Given the description of an element on the screen output the (x, y) to click on. 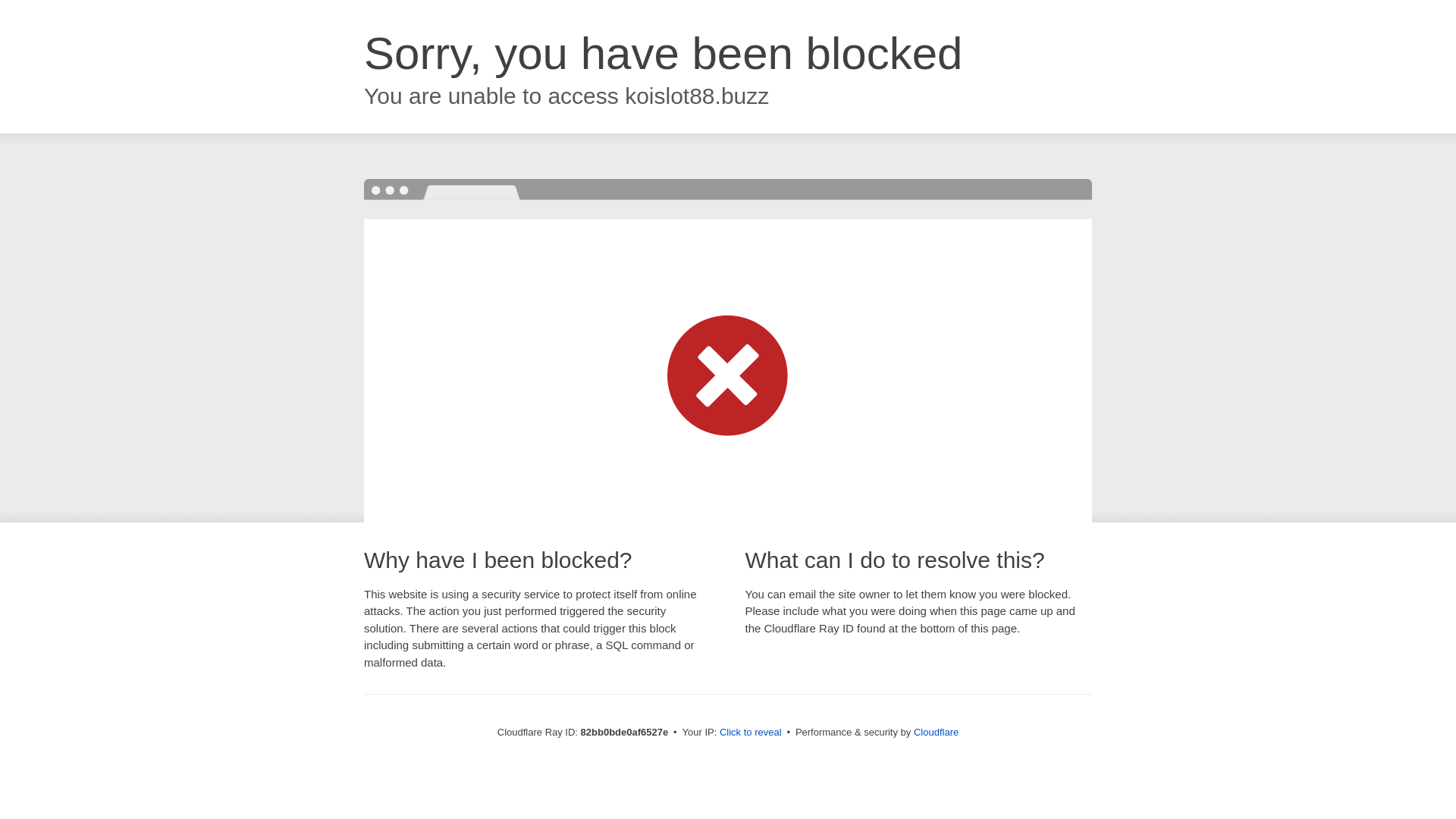
Click to reveal Element type: text (750, 732)
Cloudflare Element type: text (935, 731)
